Given the description of an element on the screen output the (x, y) to click on. 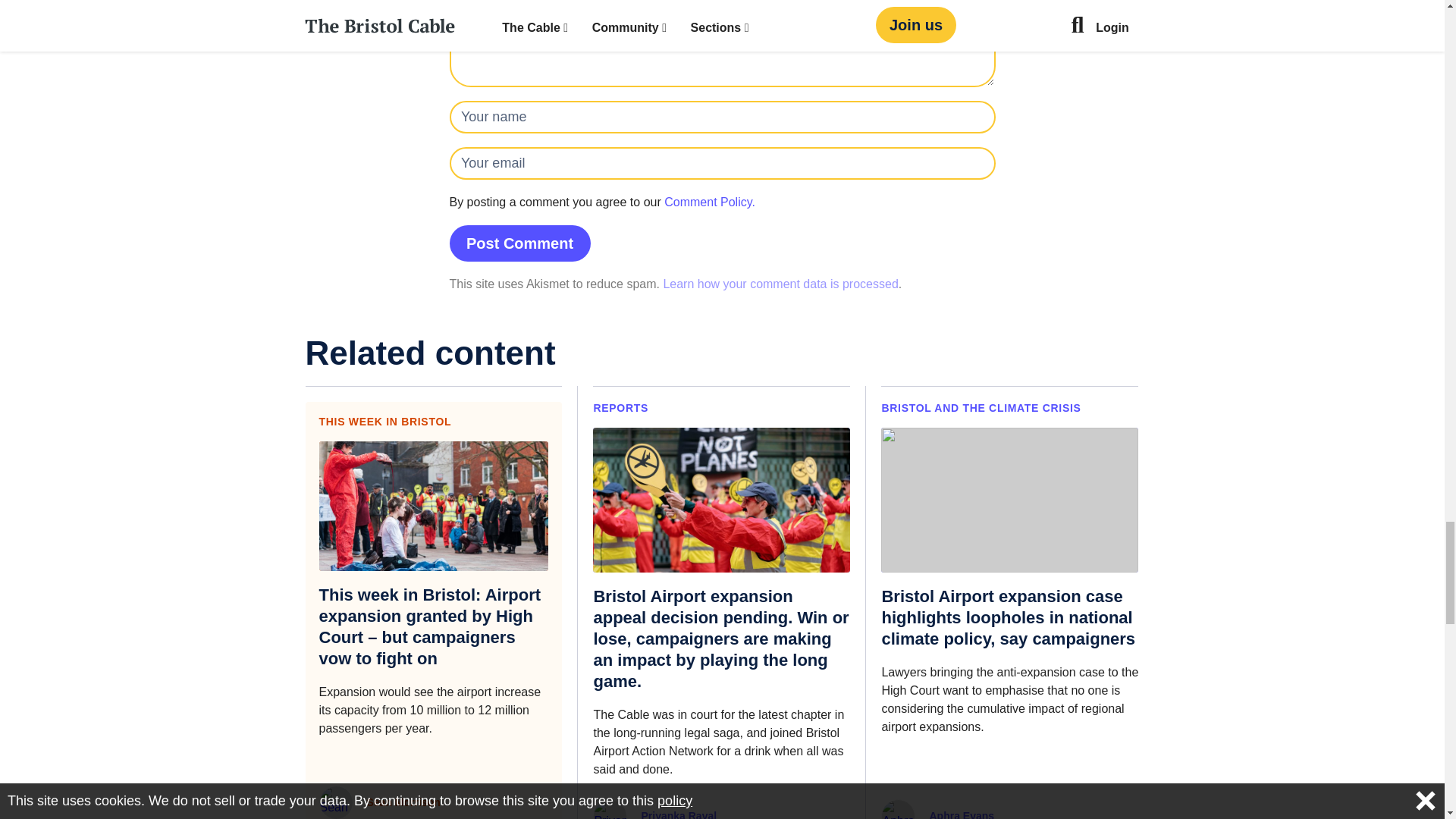
Post Comment (518, 243)
